Given the description of an element on the screen output the (x, y) to click on. 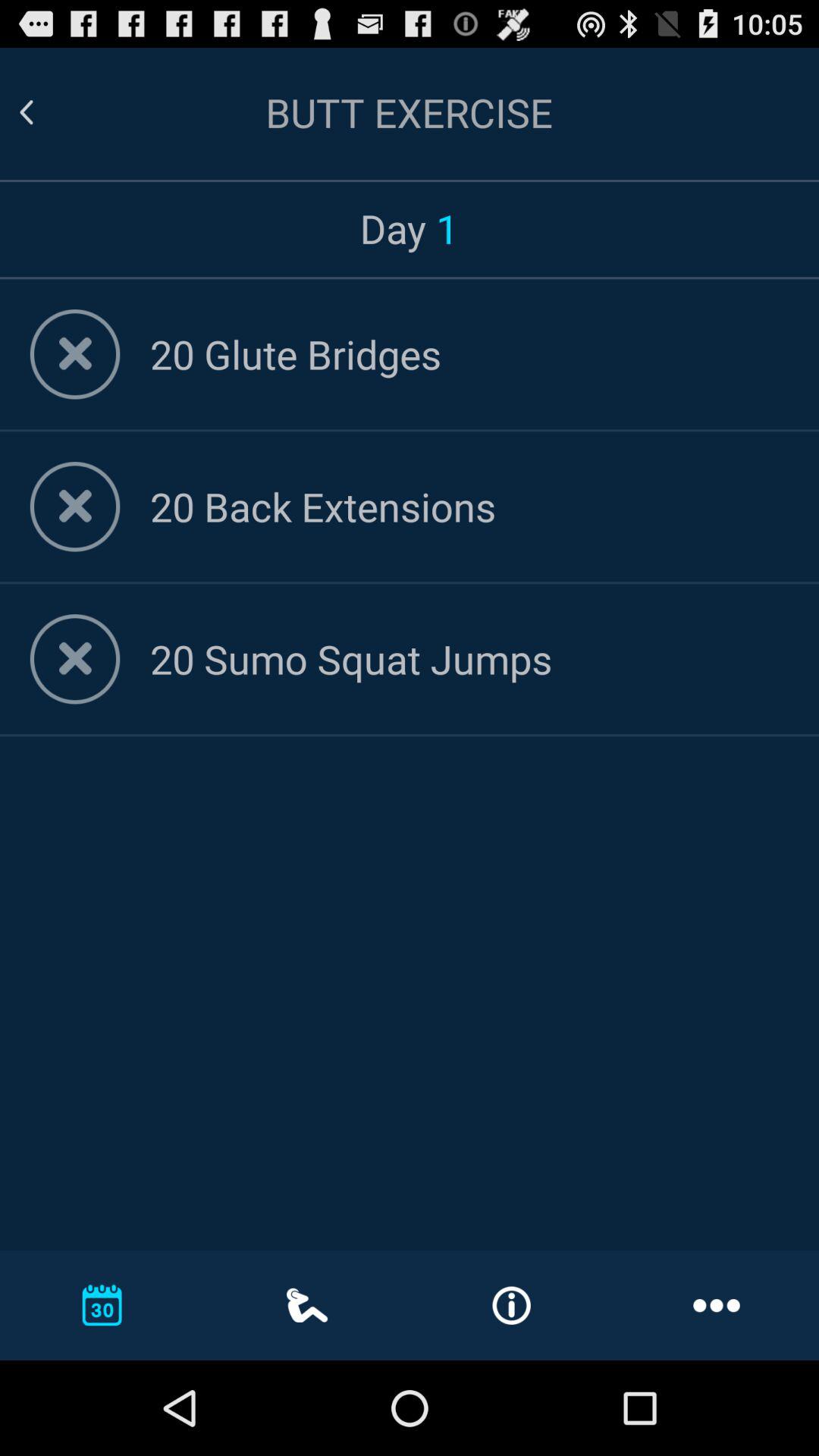
remove from list button (75, 354)
